Given the description of an element on the screen output the (x, y) to click on. 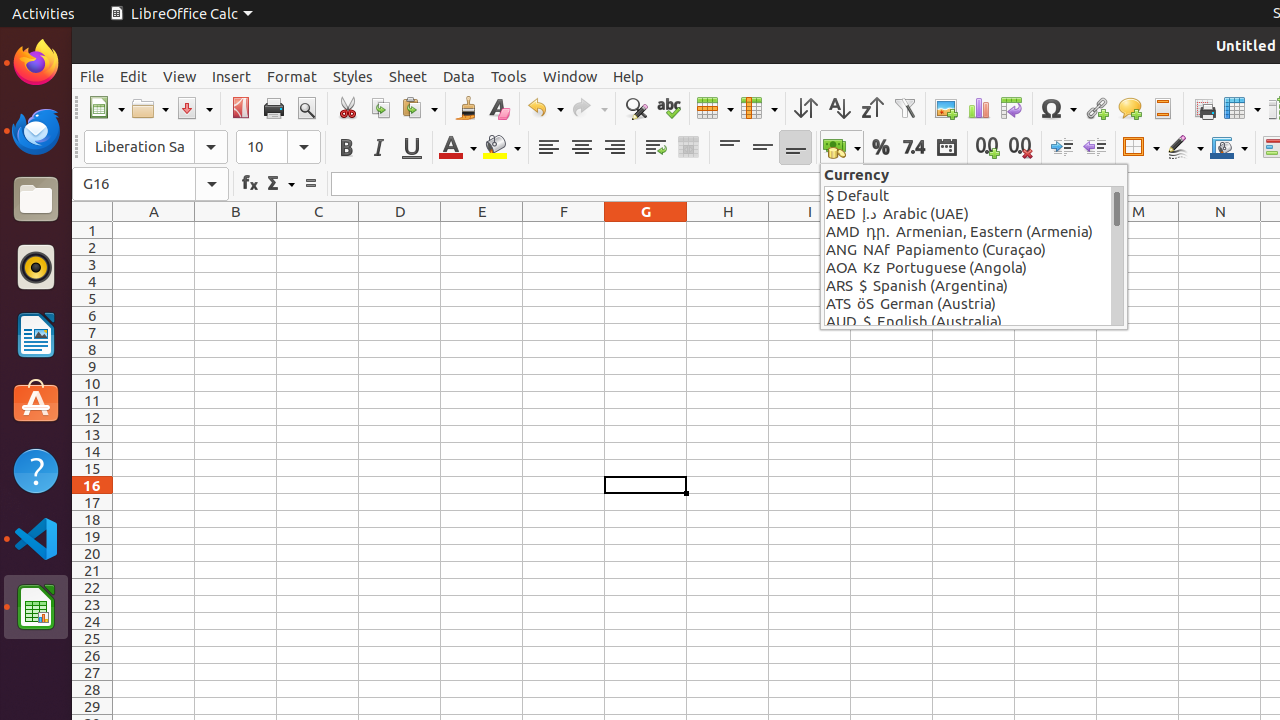
Font Size Element type: combo-box (278, 147)
Function Wizard Element type: push-button (249, 183)
Pivot Table Element type: push-button (1011, 108)
Paste Element type: push-button (419, 108)
Background Color Element type: push-button (502, 147)
